Given the description of an element on the screen output the (x, y) to click on. 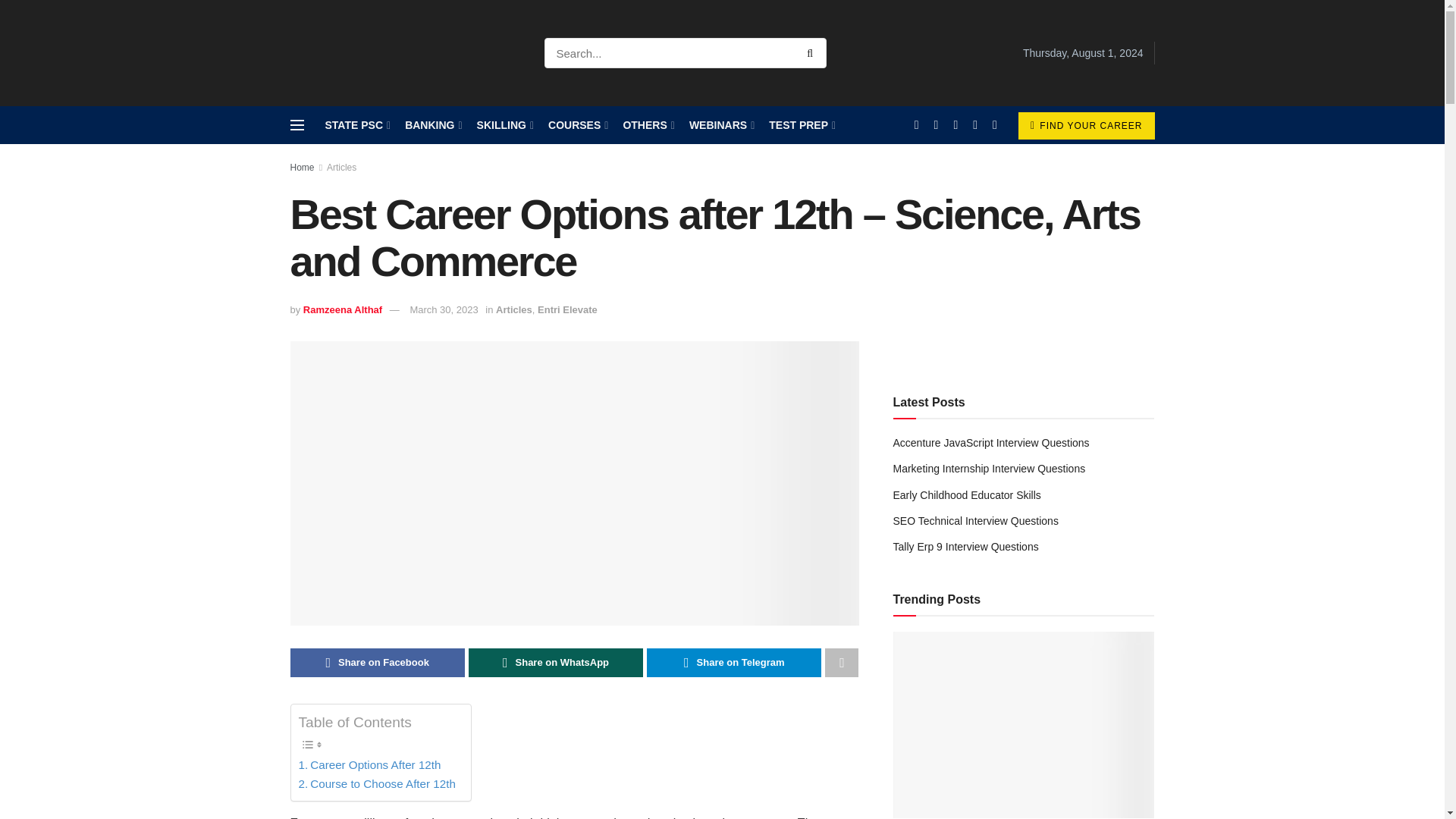
Course to Choose After 12th (376, 783)
BANKING (432, 125)
STATE PSC (356, 125)
Career Options After 12th (369, 764)
